Given the description of an element on the screen output the (x, y) to click on. 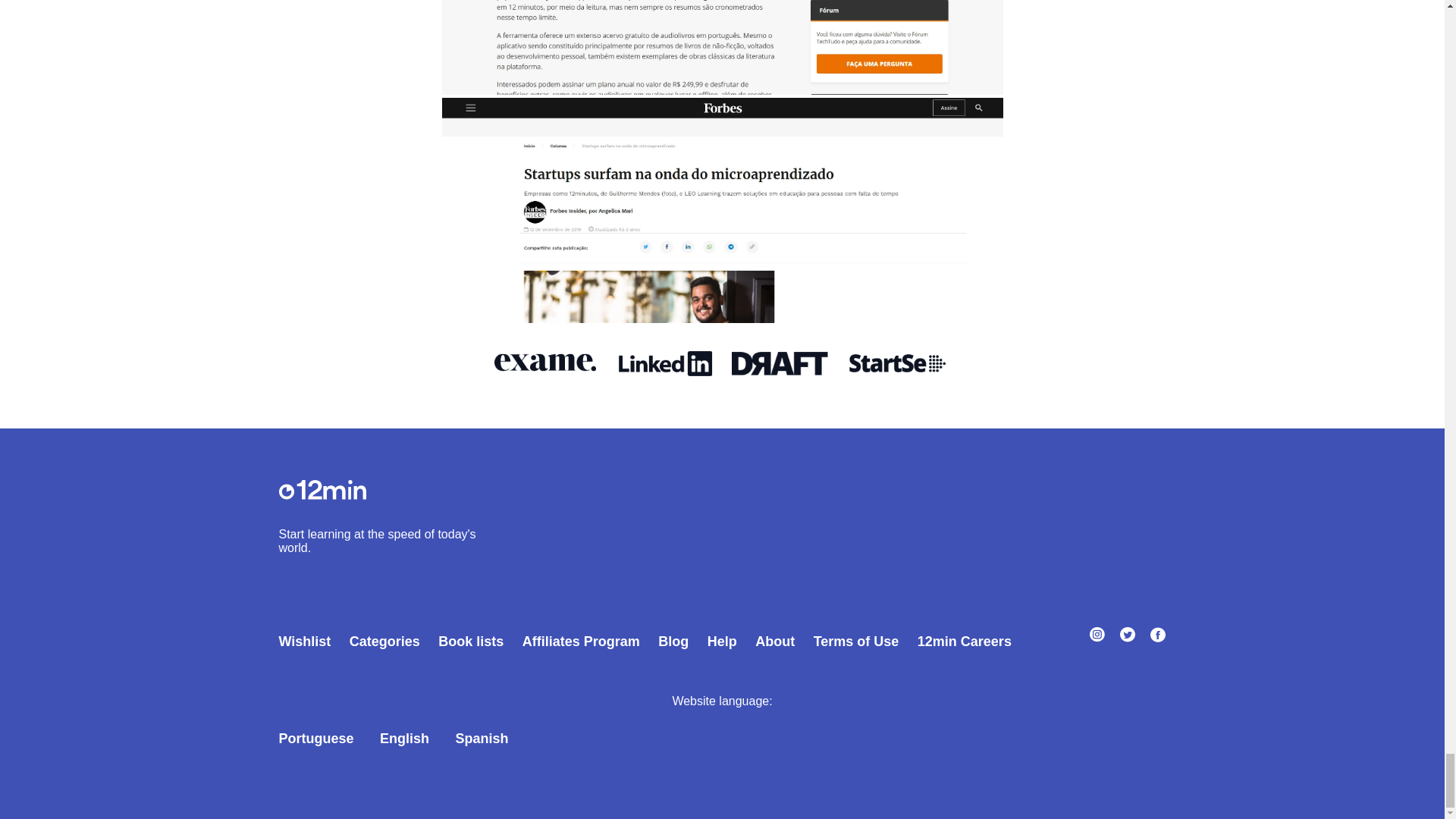
Terms of Use (852, 641)
Affiliates Program (577, 641)
About (770, 641)
Help (718, 641)
Categories (380, 641)
Book lists (466, 641)
Blog (669, 641)
Wishlist (306, 641)
